Given the description of an element on the screen output the (x, y) to click on. 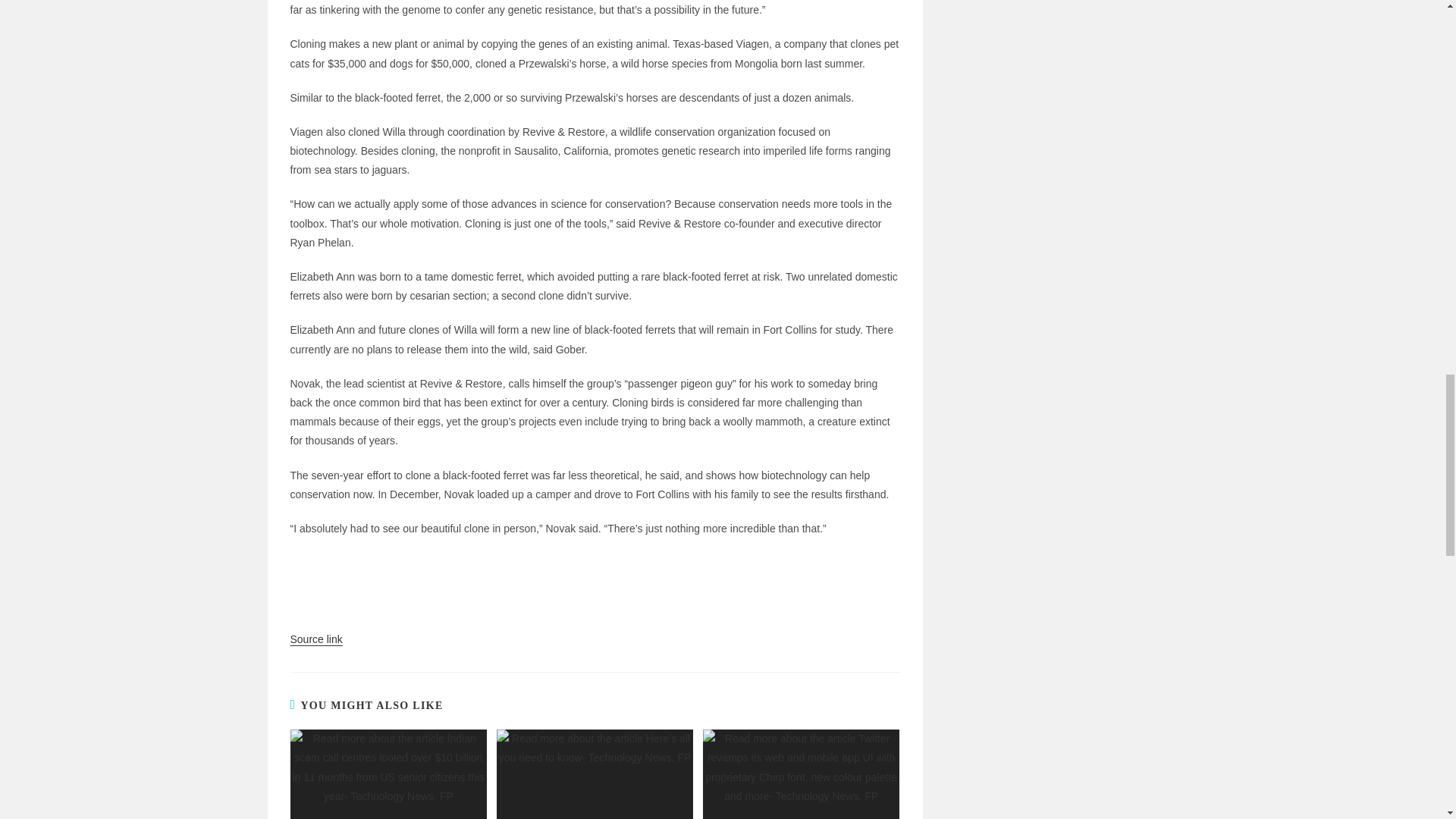
Source link (315, 639)
